Given the description of an element on the screen output the (x, y) to click on. 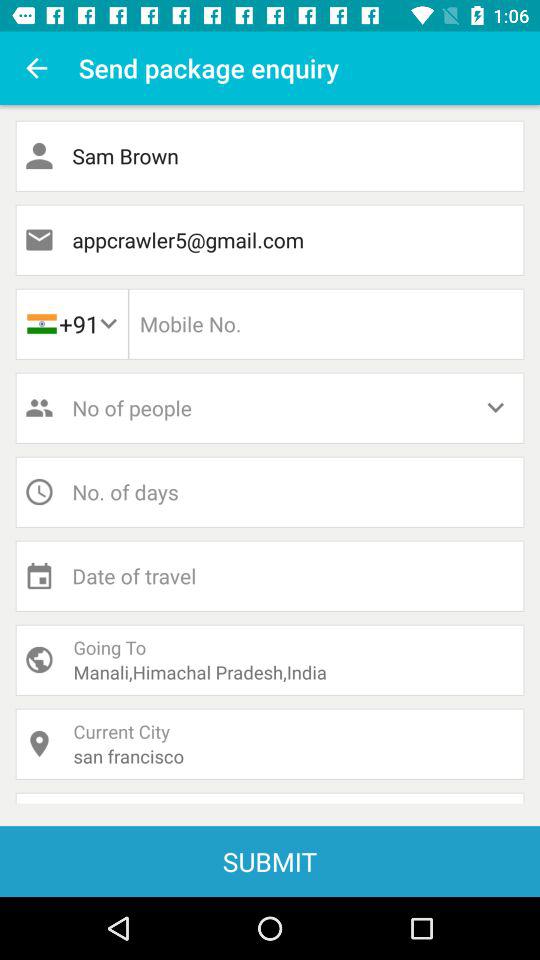
scroll to the submit (270, 861)
